Given the description of an element on the screen output the (x, y) to click on. 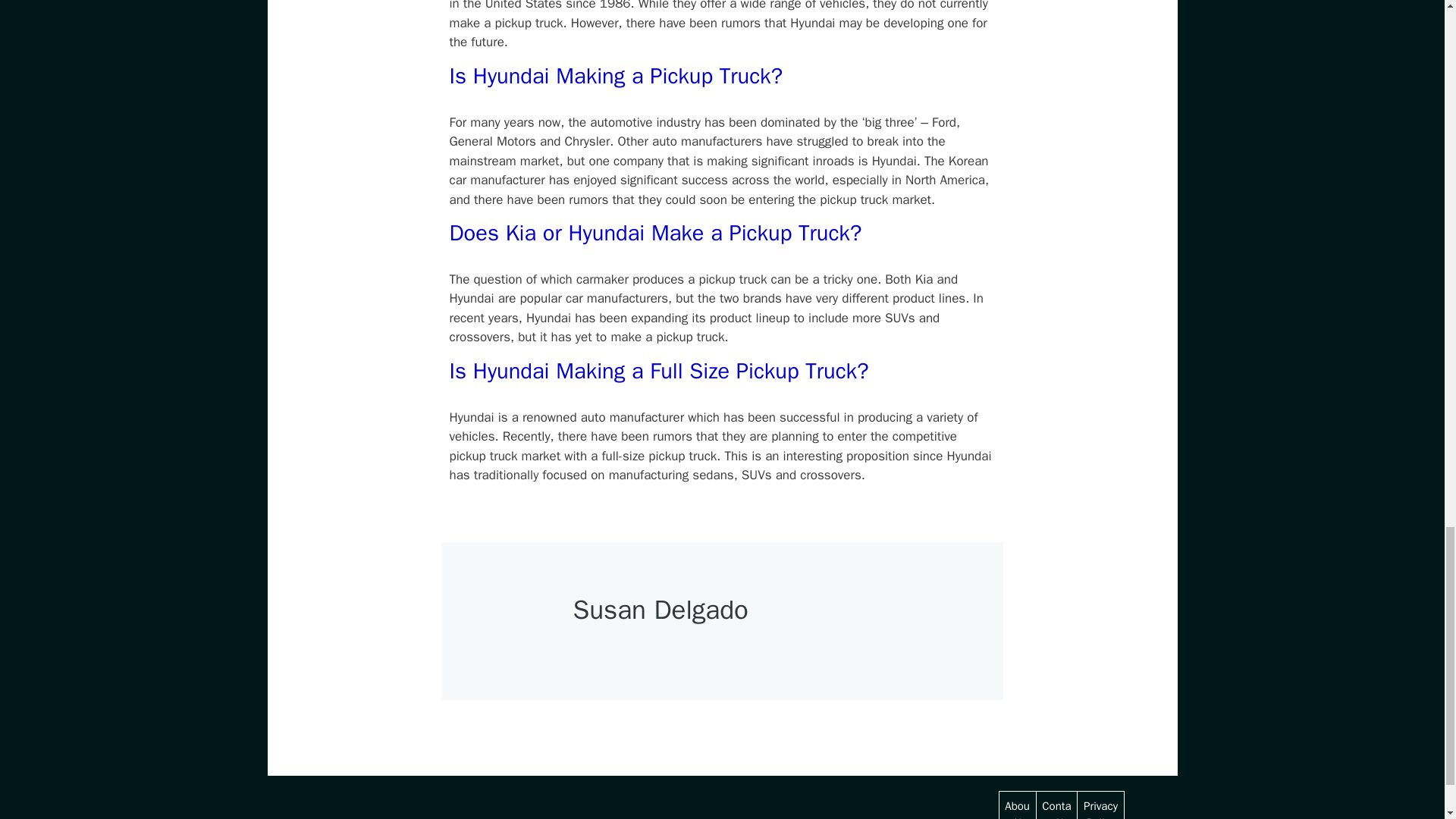
Does Kia or Hyundai Make a Pickup Truck? (654, 233)
Privacy Policy (1100, 809)
Contact Us (1056, 809)
Is Hyundai Making a Pickup Truck? (615, 76)
About Us (1016, 809)
Is Hyundai Making a Full Size Pickup Truck? (657, 370)
